Given the description of an element on the screen output the (x, y) to click on. 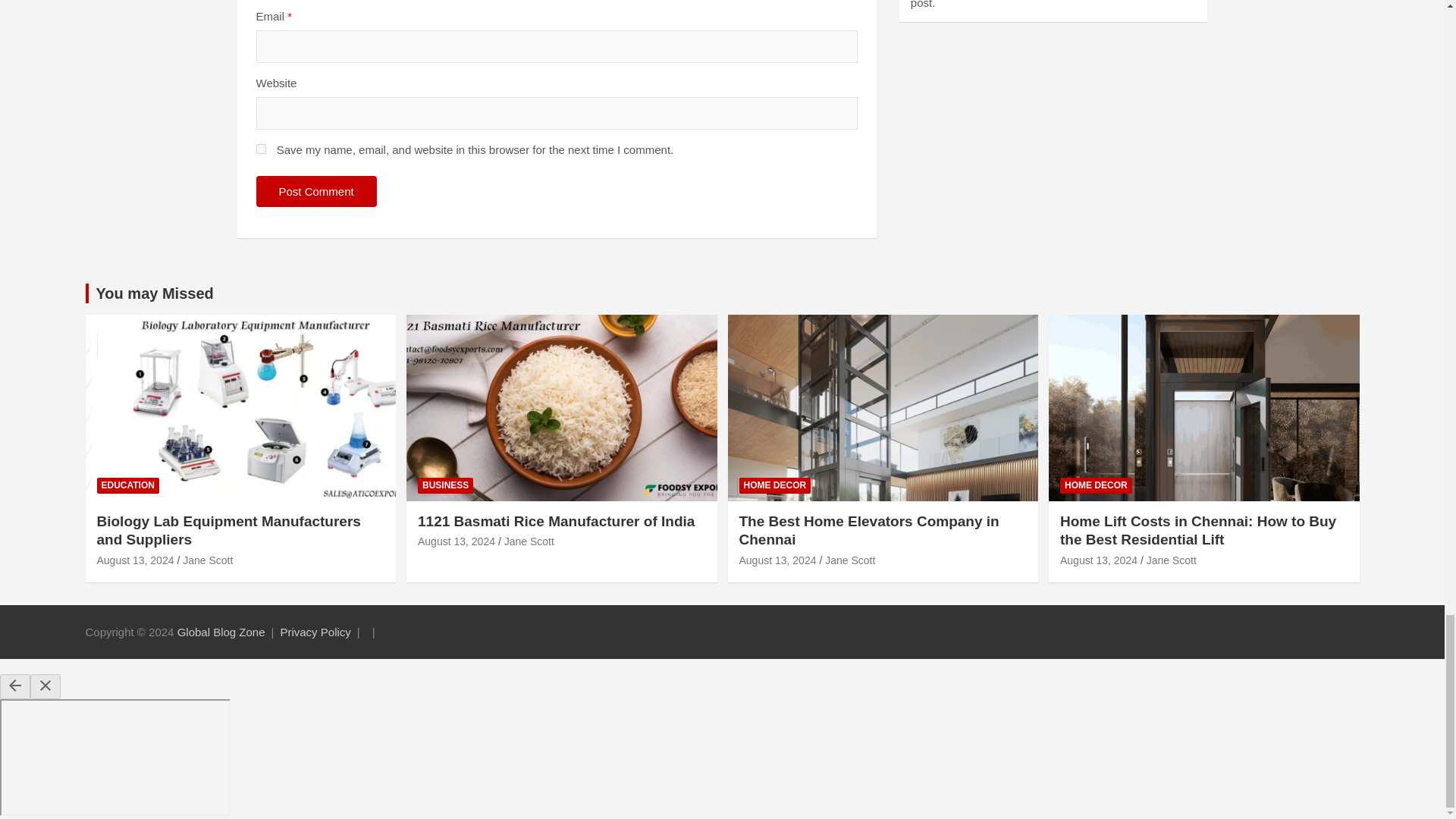
The Best Home Elevators Company in Chennai (776, 560)
Post Comment (316, 191)
yes (261, 148)
Biology Lab Equipment Manufacturers and Suppliers (135, 560)
1121 Basmati Rice Manufacturer of India (456, 541)
Global Blog Zone (220, 631)
